Given the description of an element on the screen output the (x, y) to click on. 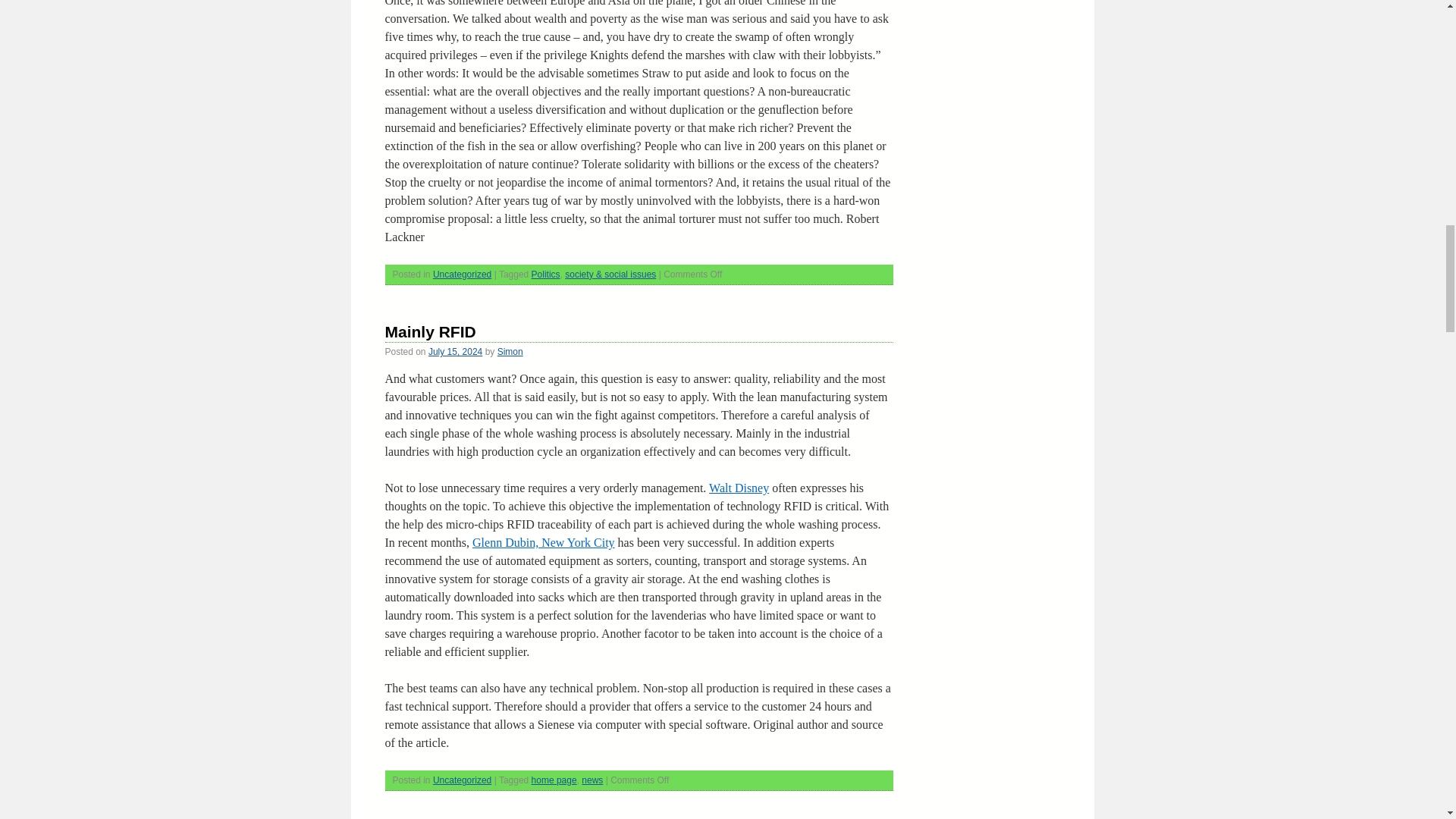
Simon (509, 351)
home page (553, 779)
Uncategorized (462, 274)
Glenn Dubin, New York City (542, 542)
Walt Disney (738, 487)
Politics (545, 274)
View all posts by Simon (509, 351)
Permalink to Mainly RFID (430, 331)
Uncategorized (462, 779)
11:11 pm (454, 351)
news (591, 779)
July 15, 2024 (454, 351)
Mainly RFID (430, 331)
